Given the description of an element on the screen output the (x, y) to click on. 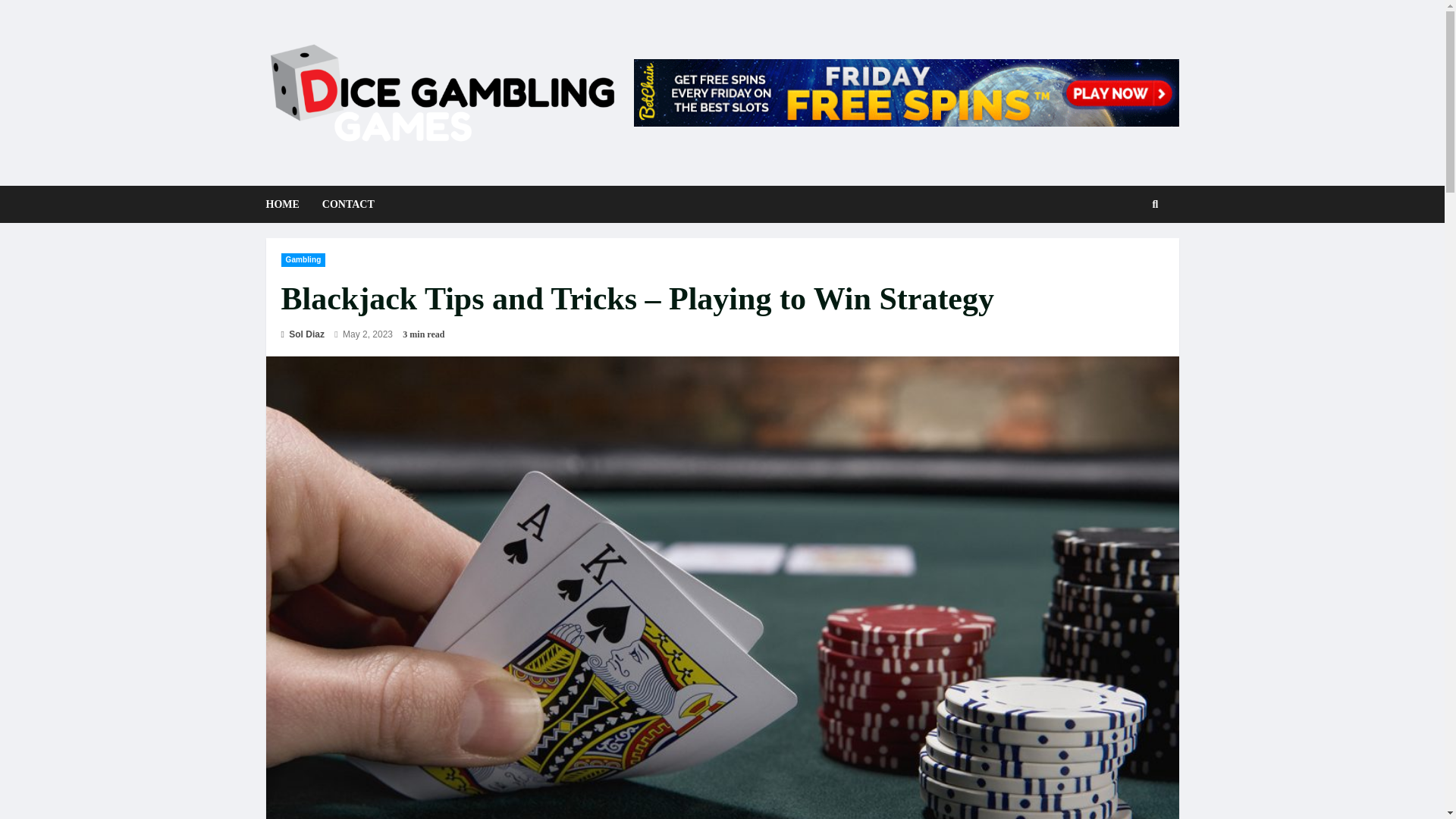
Sol Diaz (302, 334)
Search (1131, 256)
CONTACT (342, 203)
HOME (287, 203)
Gambling (302, 259)
